Given the description of an element on the screen output the (x, y) to click on. 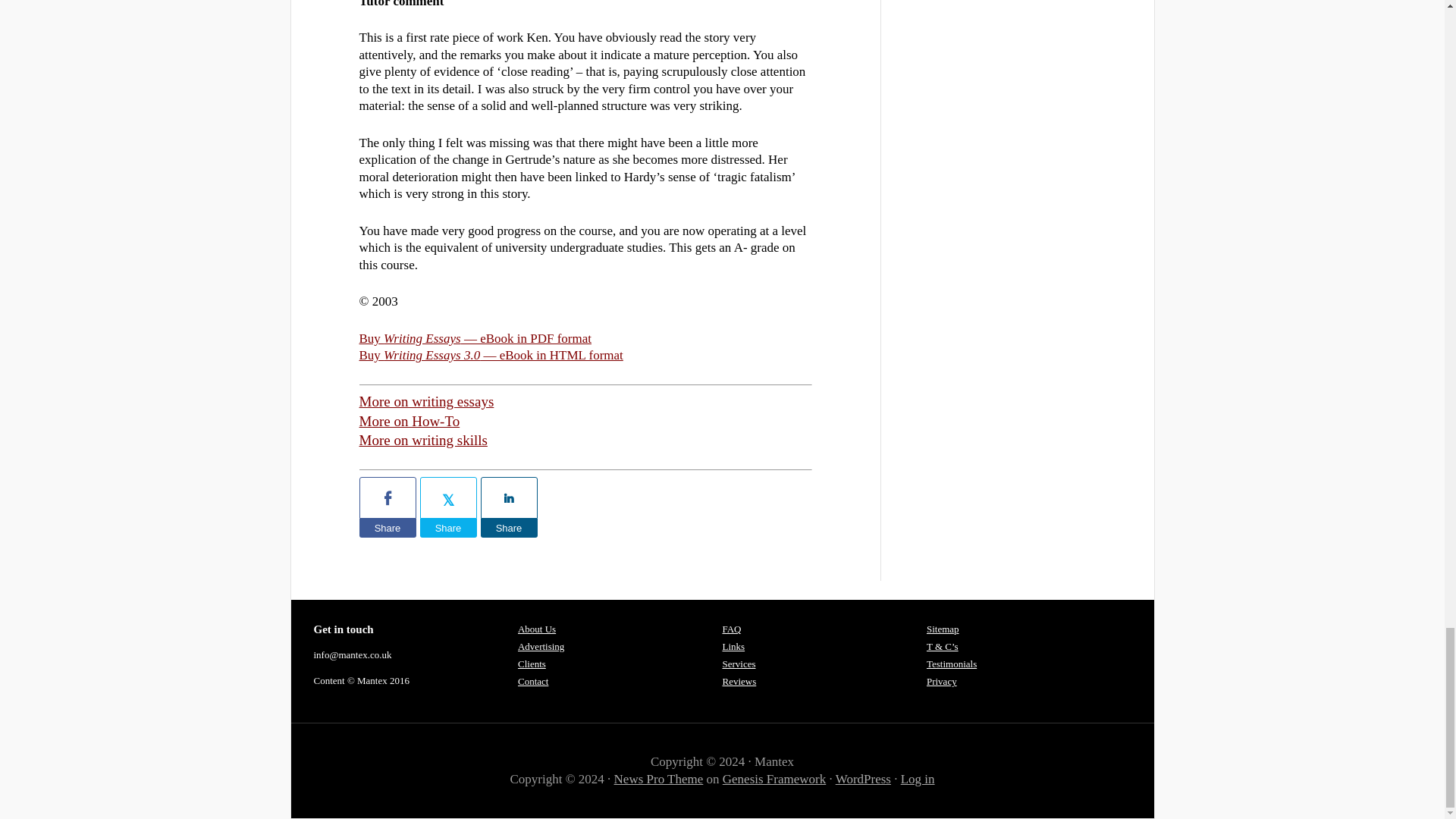
Share (448, 527)
About Us (537, 628)
Services (738, 663)
FAQ (731, 628)
More on How-To (409, 421)
Contact (533, 681)
More on writing skills (423, 439)
Sitemap (942, 628)
Advertising (541, 645)
Share (387, 527)
